Given the description of an element on the screen output the (x, y) to click on. 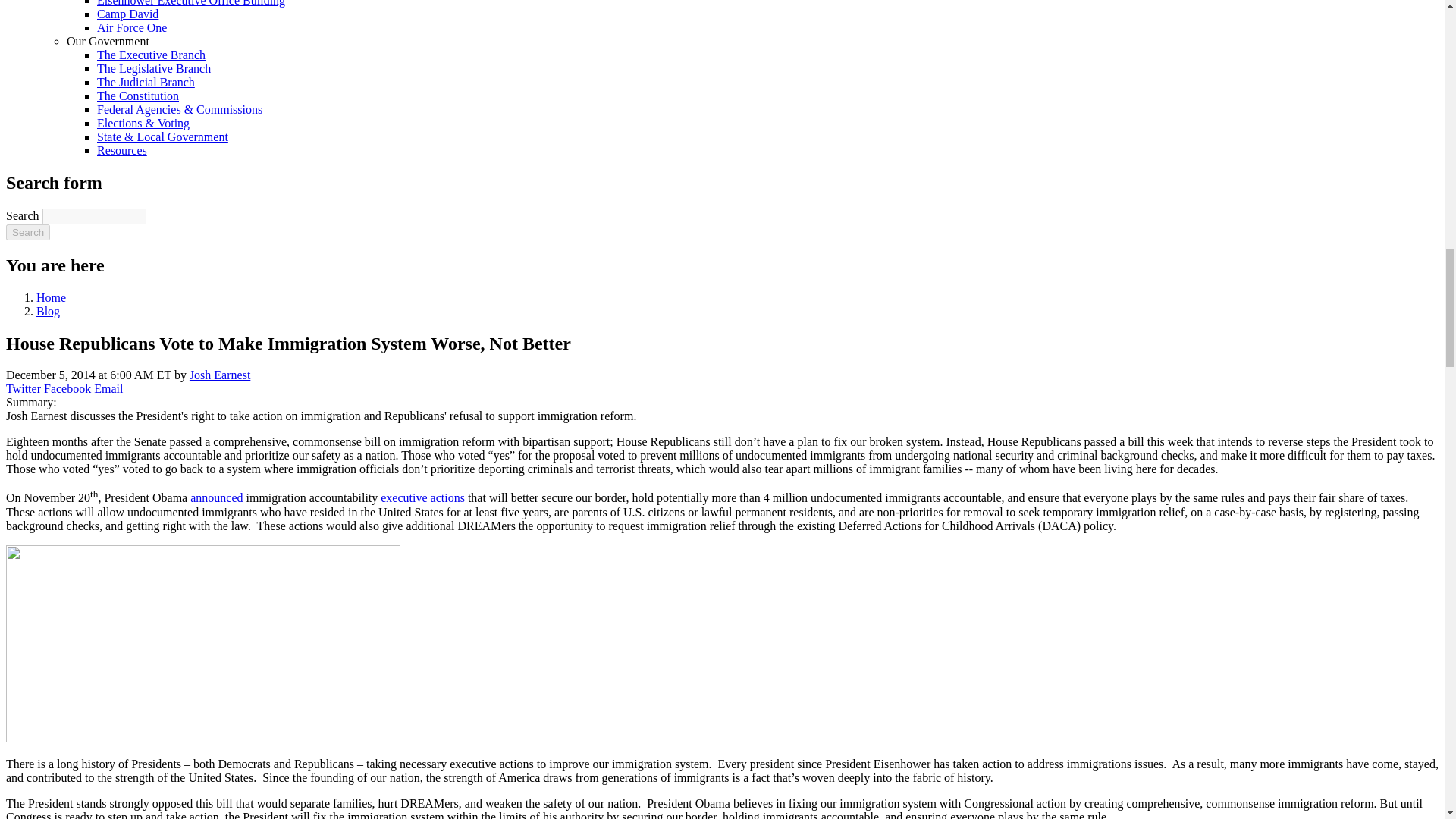
Search (27, 232)
Twitter (22, 388)
Email (108, 388)
Enter the terms you wish to search for. (94, 216)
Facebook (66, 388)
